Given the description of an element on the screen output the (x, y) to click on. 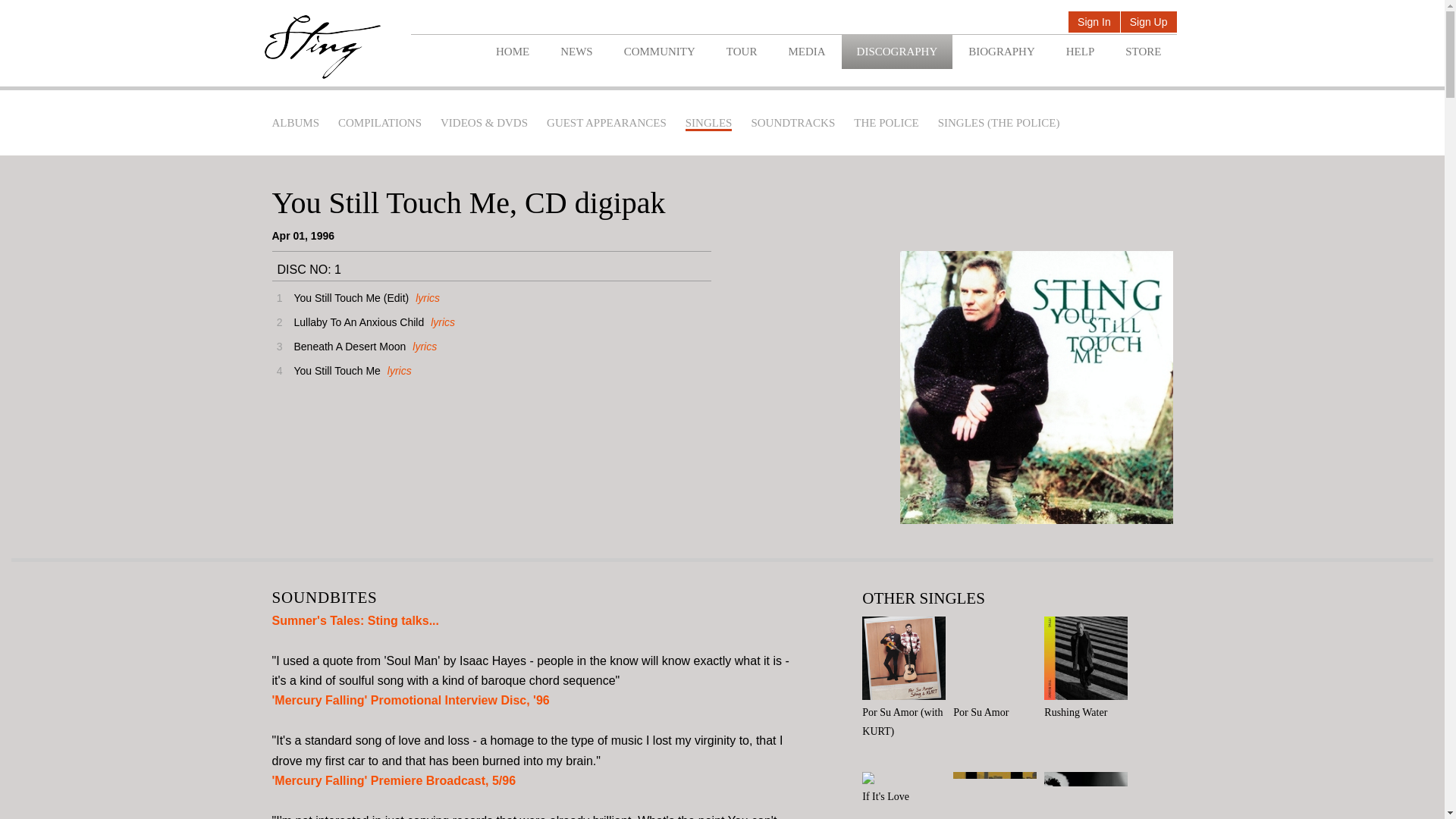
Sign Up (1148, 22)
If It's Love (907, 789)
HOME (512, 51)
NEWS (576, 51)
ALBUMS (294, 122)
COMPILATIONS (379, 122)
STORE (1142, 51)
TOUR (742, 51)
Sting (321, 46)
Sign In (1093, 22)
THE POLICE (885, 122)
DISCOGRAPHY (897, 51)
lyrics (425, 297)
SINGLES (708, 124)
SOUNDTRACKS (792, 122)
